Given the description of an element on the screen output the (x, y) to click on. 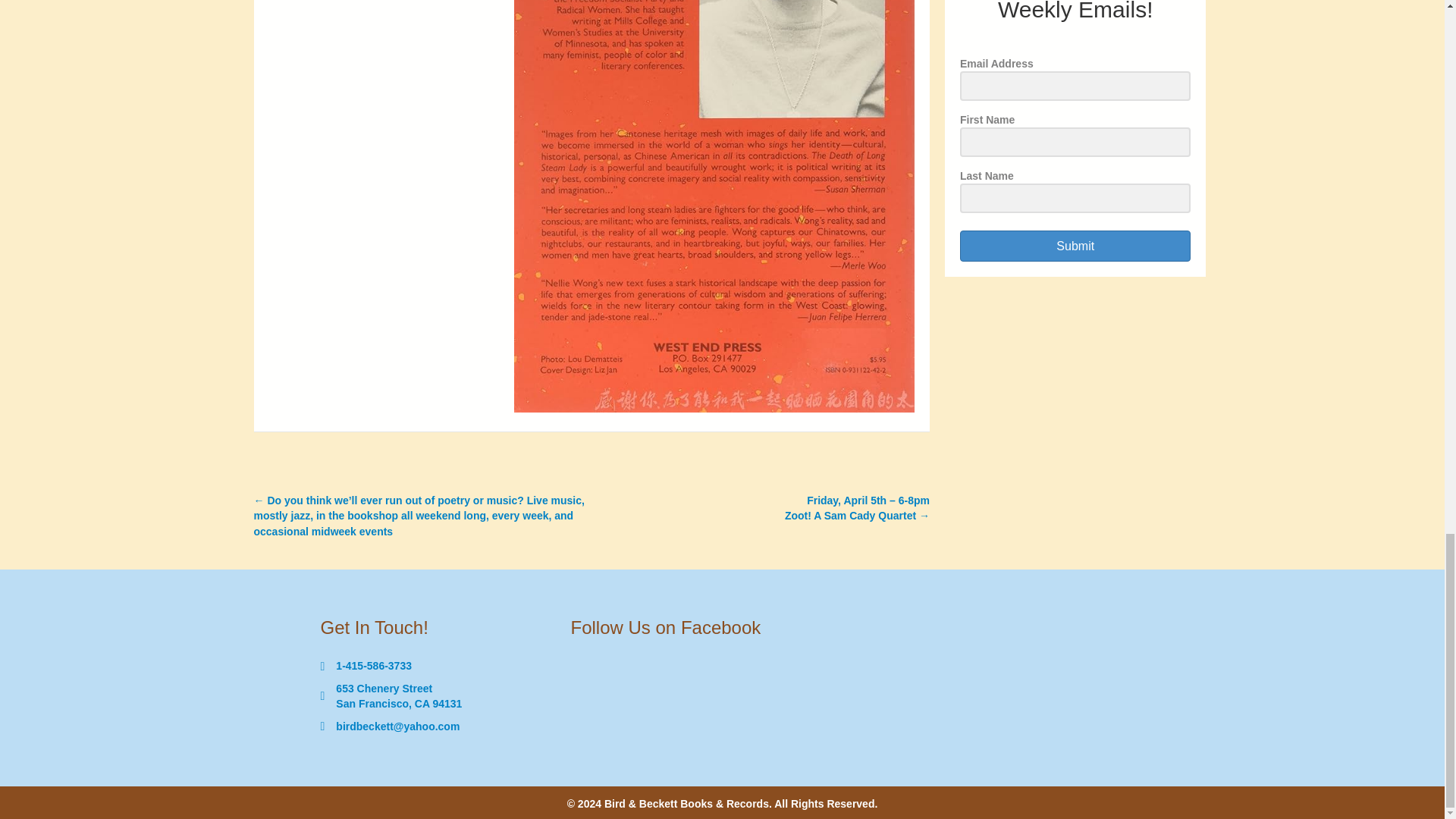
Submit (1075, 245)
1-415-586-3733 (374, 665)
